Given the description of an element on the screen output the (x, y) to click on. 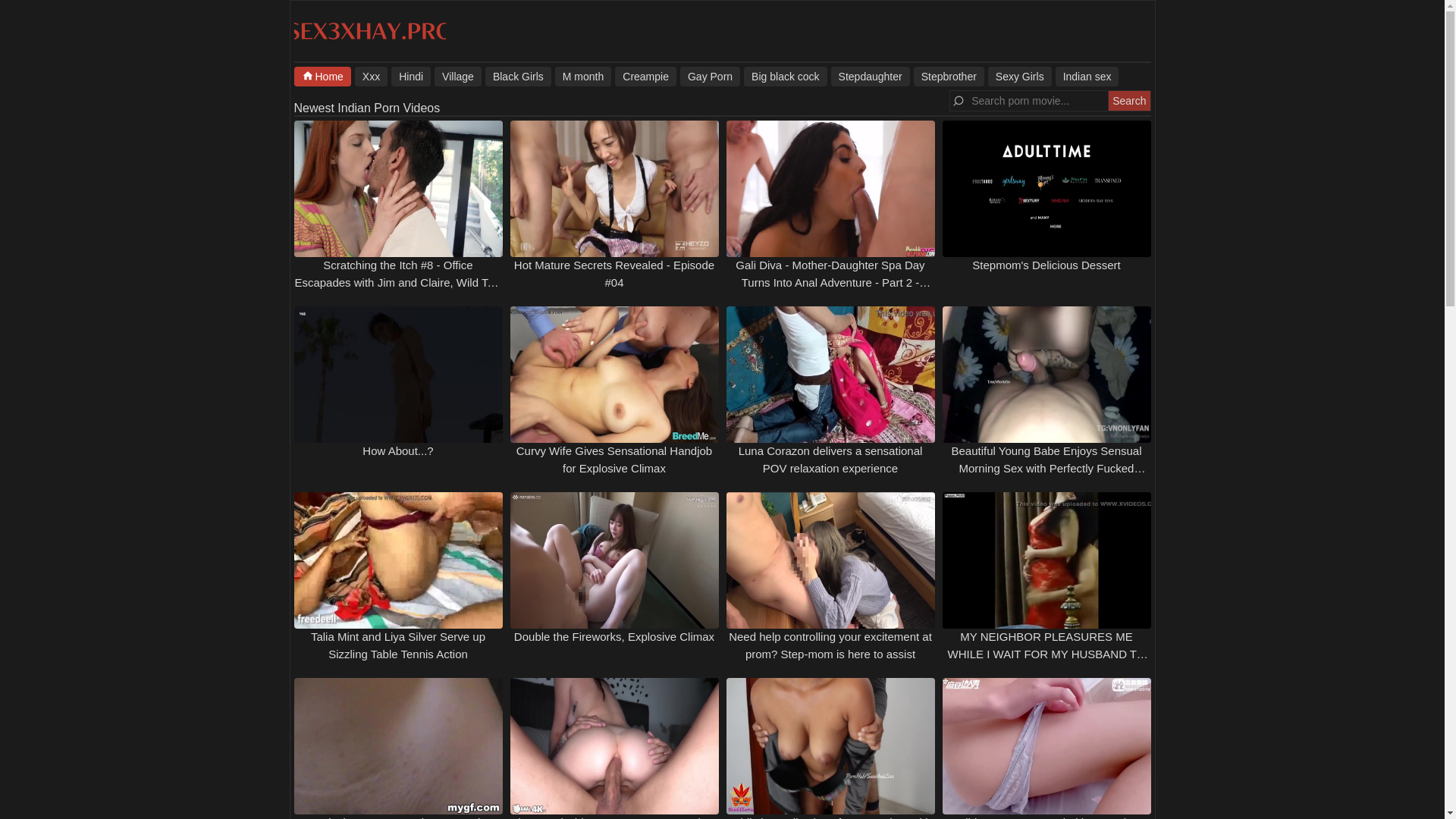
Gay Porn (709, 76)
Stepdaughter (870, 76)
How About...? (397, 450)
M month (582, 76)
Stepmom's Delicious Dessert (1045, 264)
Black Girls (517, 76)
Search (1129, 100)
Gay Porn (709, 76)
Indian sex (1087, 76)
Creampie (645, 76)
Search (1129, 100)
